Given the description of an element on the screen output the (x, y) to click on. 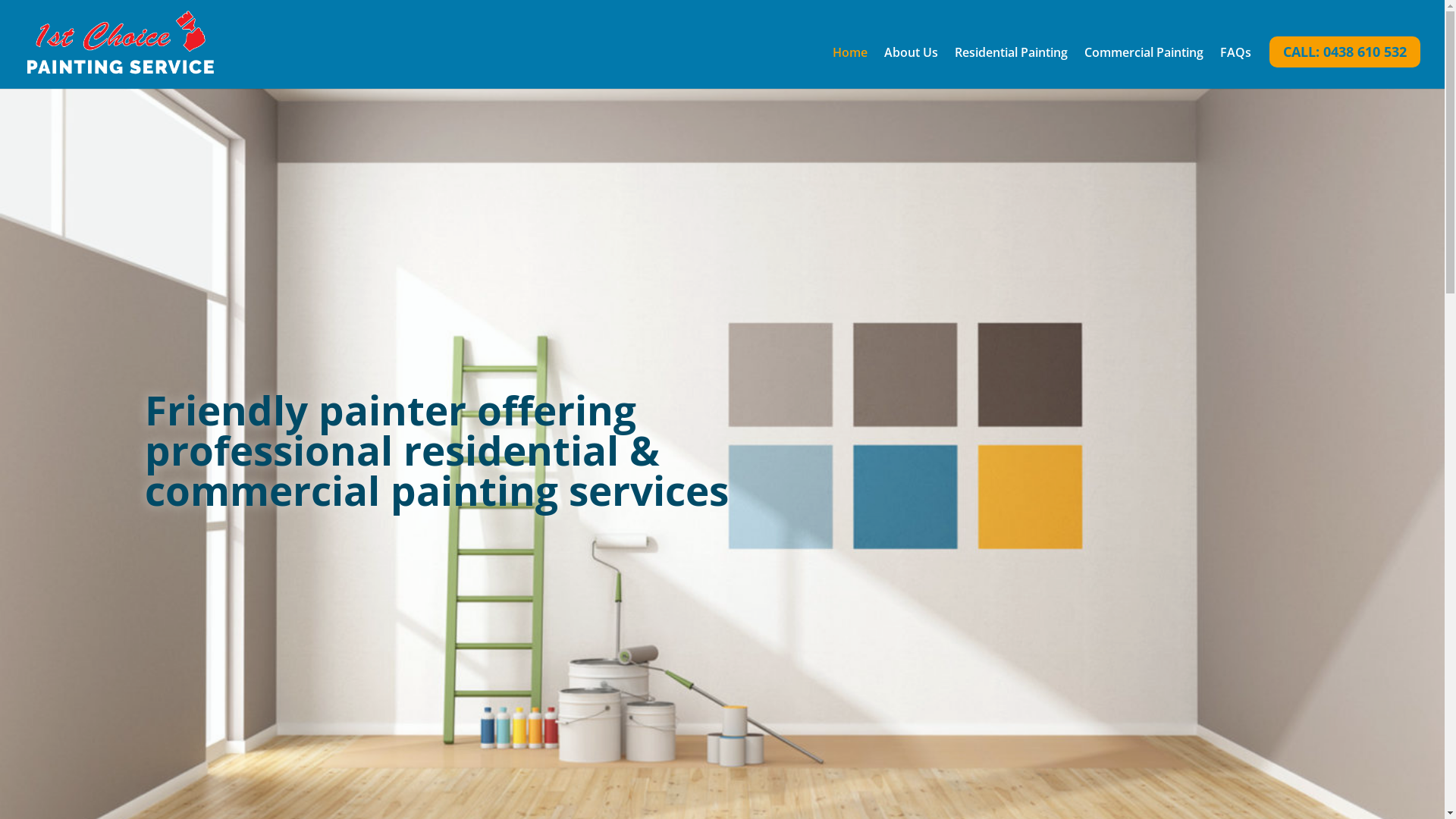
Home Element type: text (849, 62)
FAQs Element type: text (1235, 62)
About Us Element type: text (911, 62)
Residential Painting Element type: text (1010, 62)
CALL: 0438 610 532 Element type: text (1344, 53)
Commercial Painting Element type: text (1143, 62)
